Given the description of an element on the screen output the (x, y) to click on. 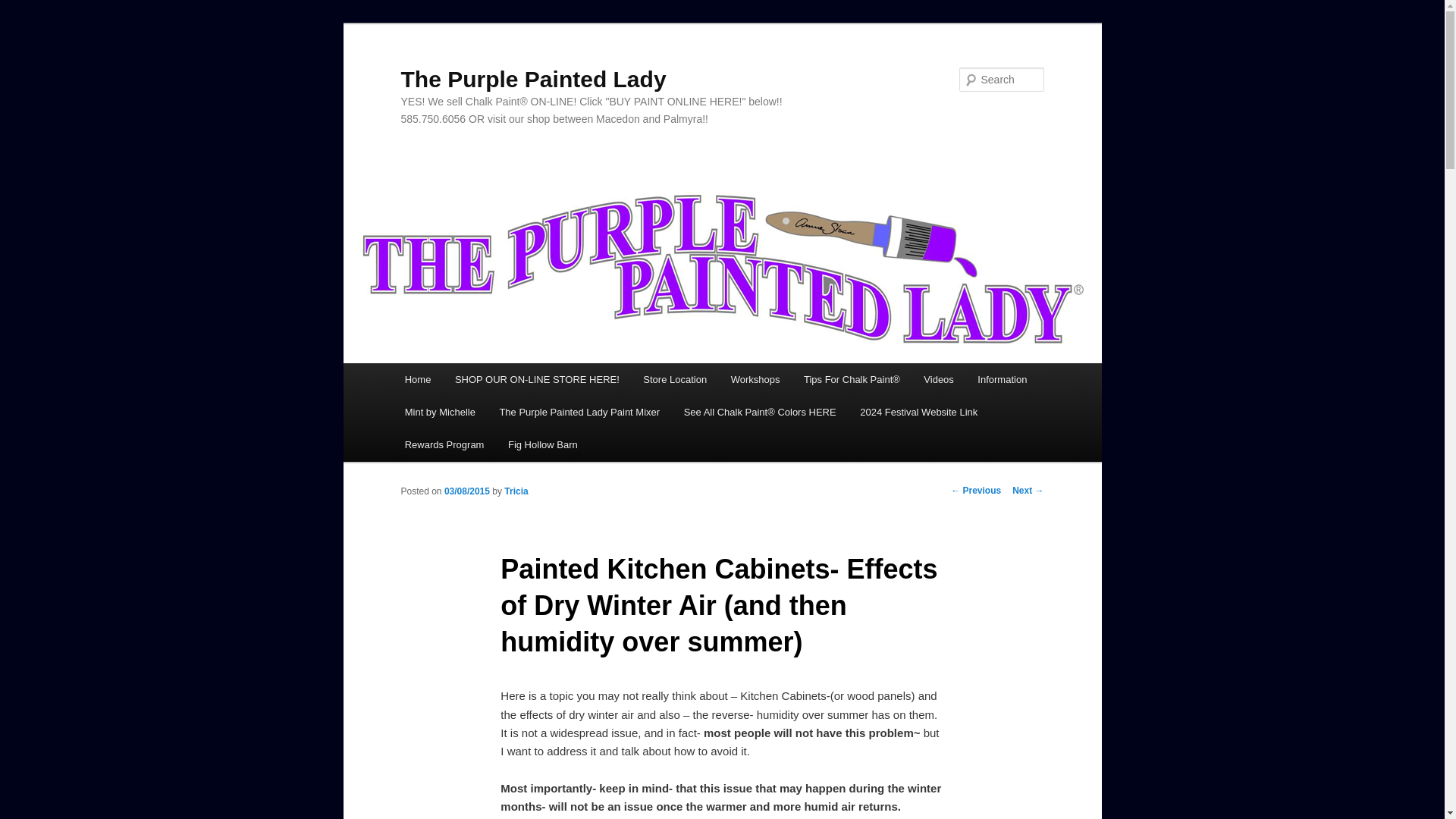
12:17 PM (466, 491)
The Purple Painted Lady (532, 78)
View all posts by Tricia (515, 491)
Search (24, 8)
Store Location (675, 379)
Home (417, 379)
Workshops (755, 379)
SHOP OUR ON-LINE STORE HERE! (536, 379)
